Given the description of an element on the screen output the (x, y) to click on. 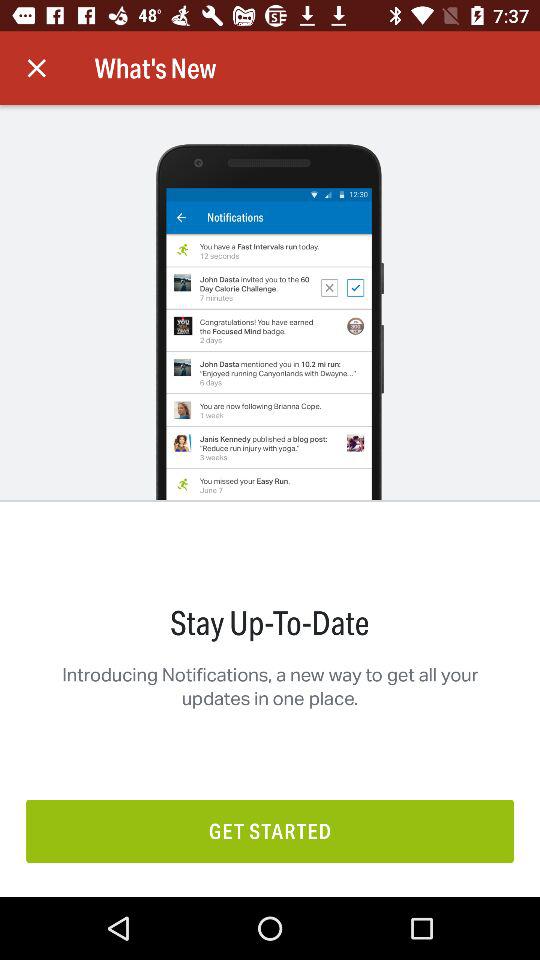
launch item next to the what's new item (36, 68)
